Given the description of an element on the screen output the (x, y) to click on. 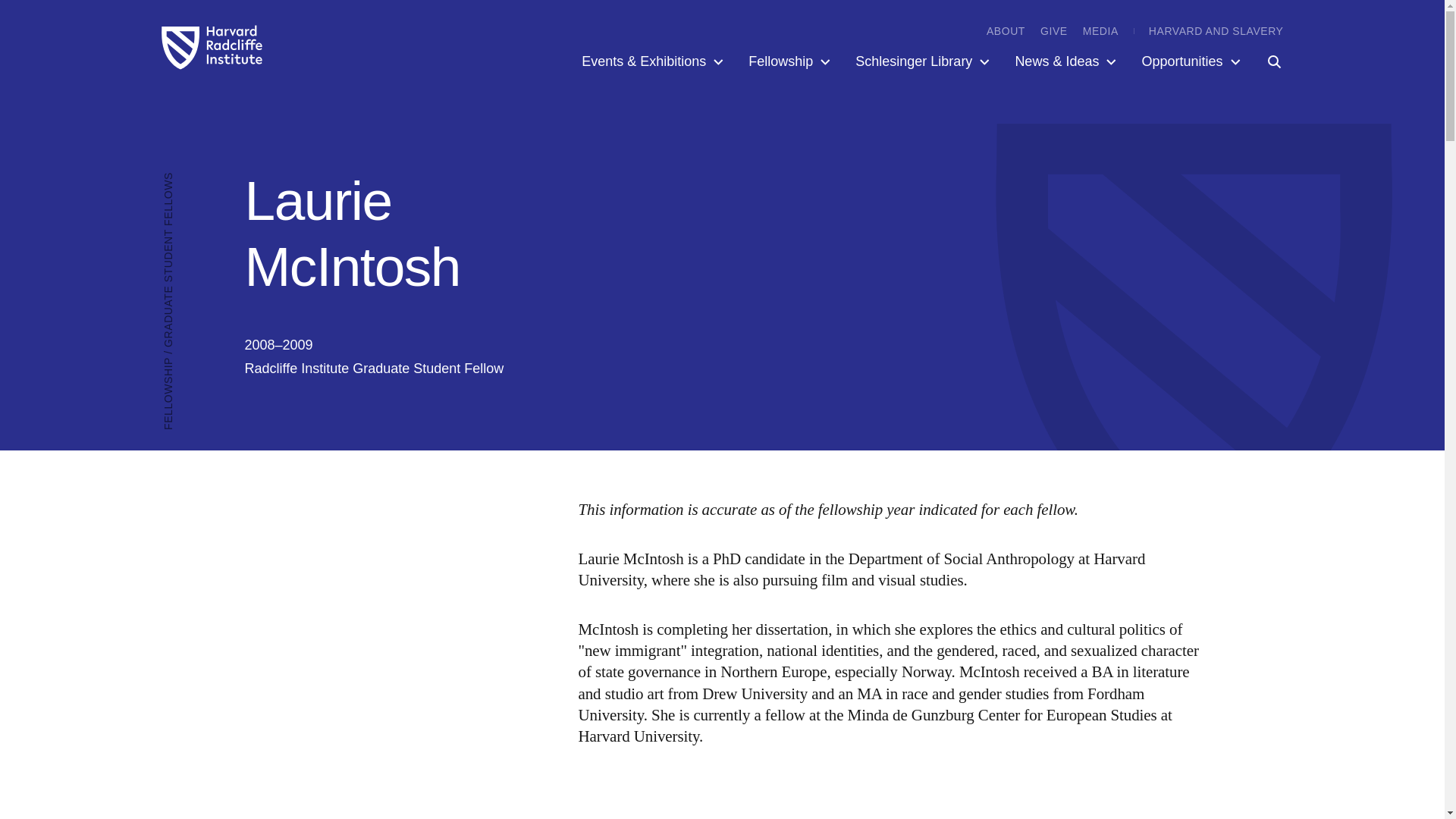
Toggle search (1262, 61)
ABOUT (1006, 30)
Opportunities (1192, 61)
Main Navigation (921, 61)
HARVARD AND SLAVERY (1216, 30)
Schlesinger Library (924, 61)
GIVE (1054, 30)
Go to homepage (212, 47)
Fellowship (791, 61)
MEDIA (1100, 30)
